Given the description of an element on the screen output the (x, y) to click on. 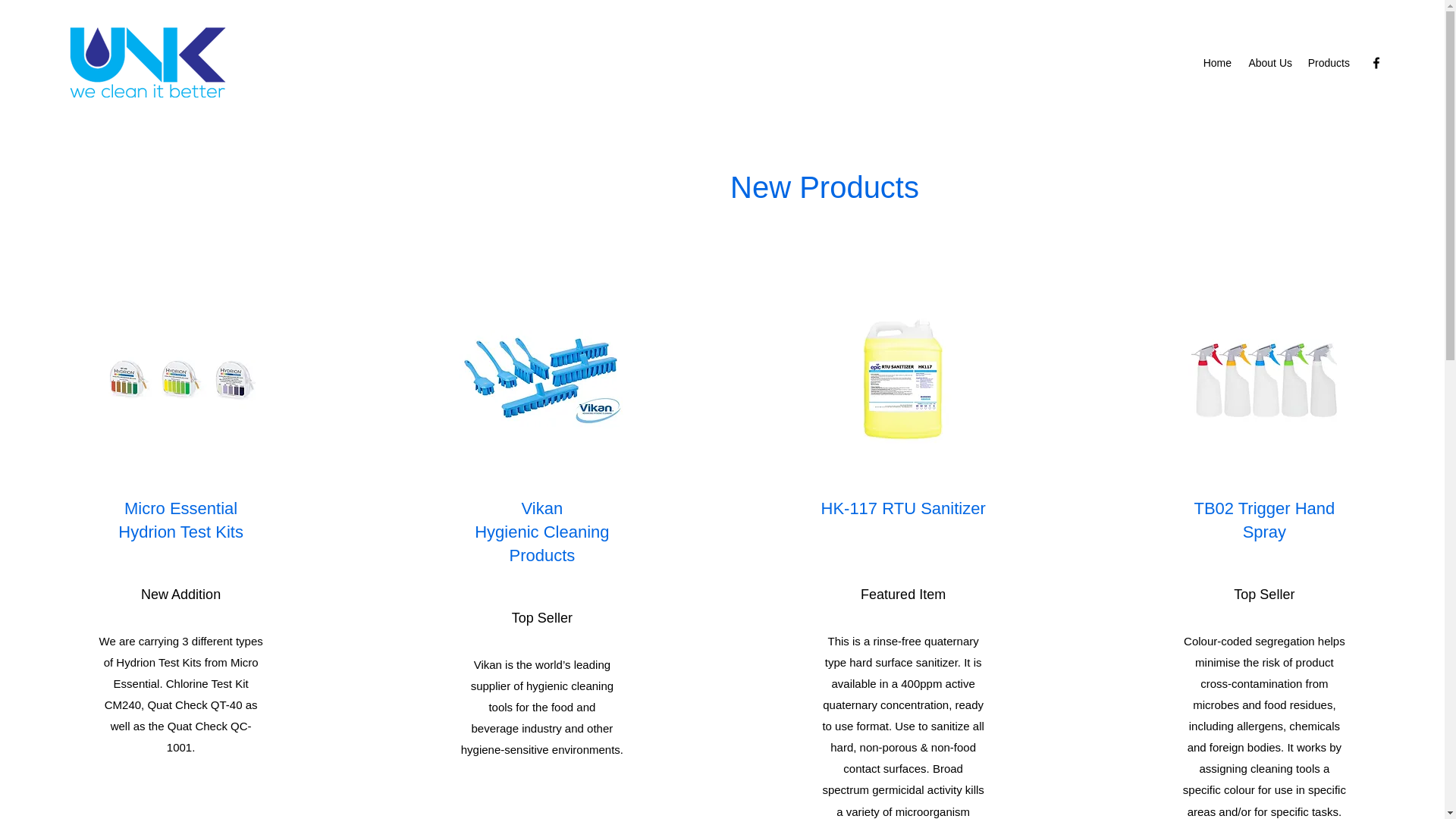
Home (1217, 62)
About Us (1269, 62)
Products (1328, 62)
